Given the description of an element on the screen output the (x, y) to click on. 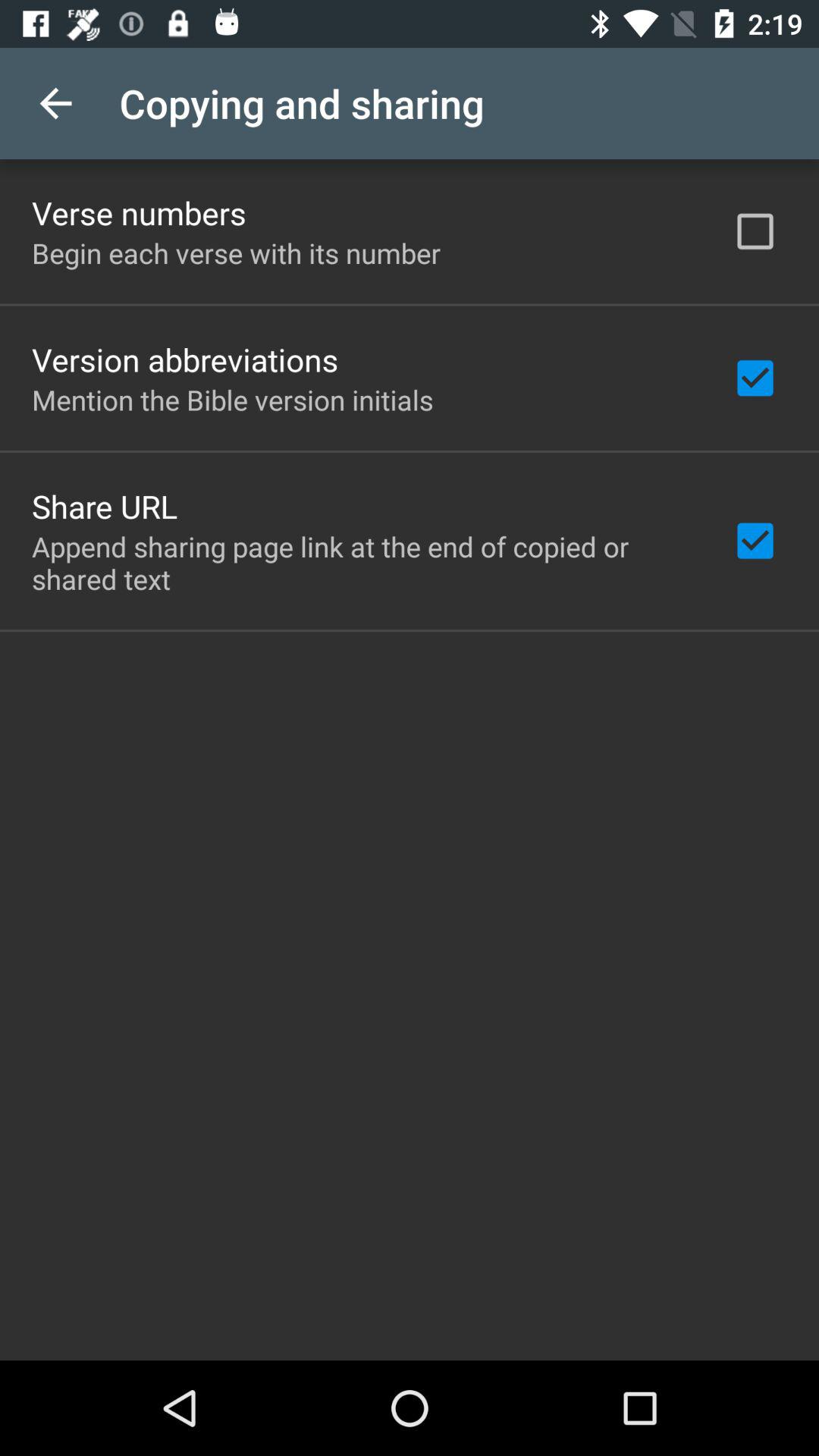
turn off item at the center (361, 562)
